Given the description of an element on the screen output the (x, y) to click on. 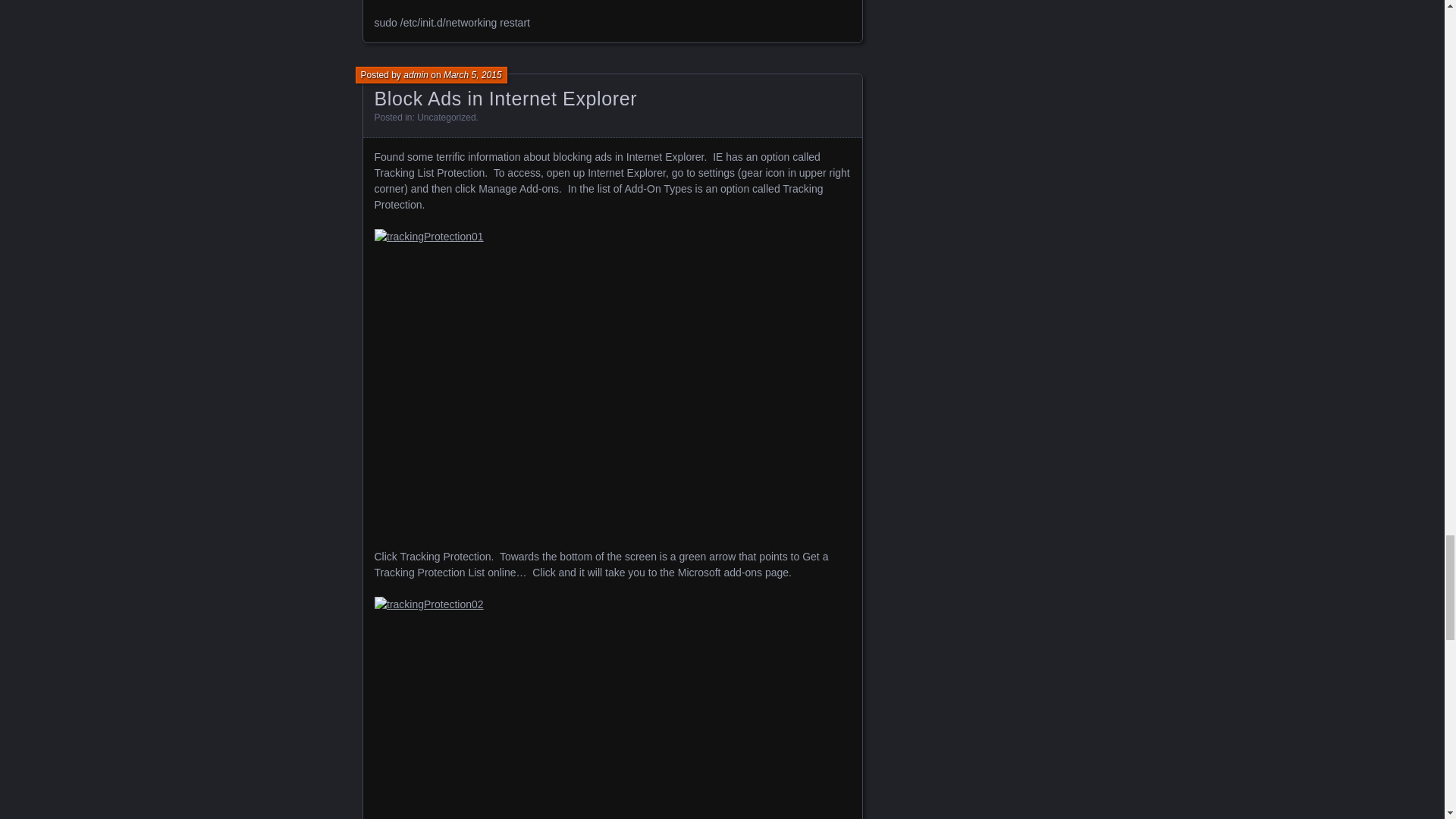
admin (415, 74)
March 5, 2015 (473, 74)
Block Ads in Internet Explorer (505, 97)
View all posts by admin (415, 74)
